Given the description of an element on the screen output the (x, y) to click on. 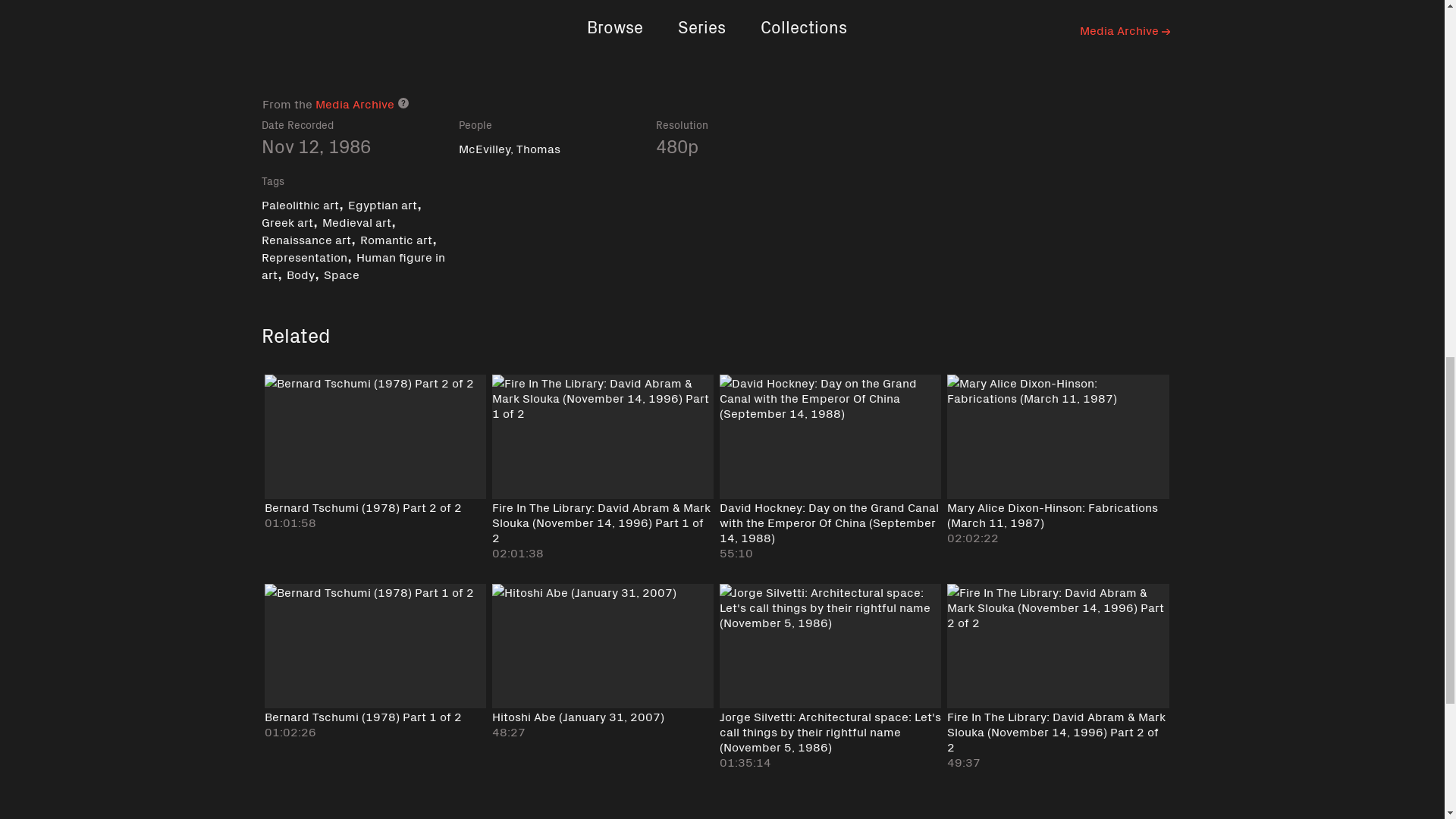
Human figure in art (352, 264)
Greek art (286, 221)
Media Archive (354, 103)
Paleolithic art (298, 203)
Romantic art (394, 238)
Space (340, 273)
Medieval art (355, 221)
Renaissance art (305, 238)
Representation (303, 256)
Body (300, 273)
Egyptian art (381, 203)
McEvilley, Thomas (509, 147)
